Given the description of an element on the screen output the (x, y) to click on. 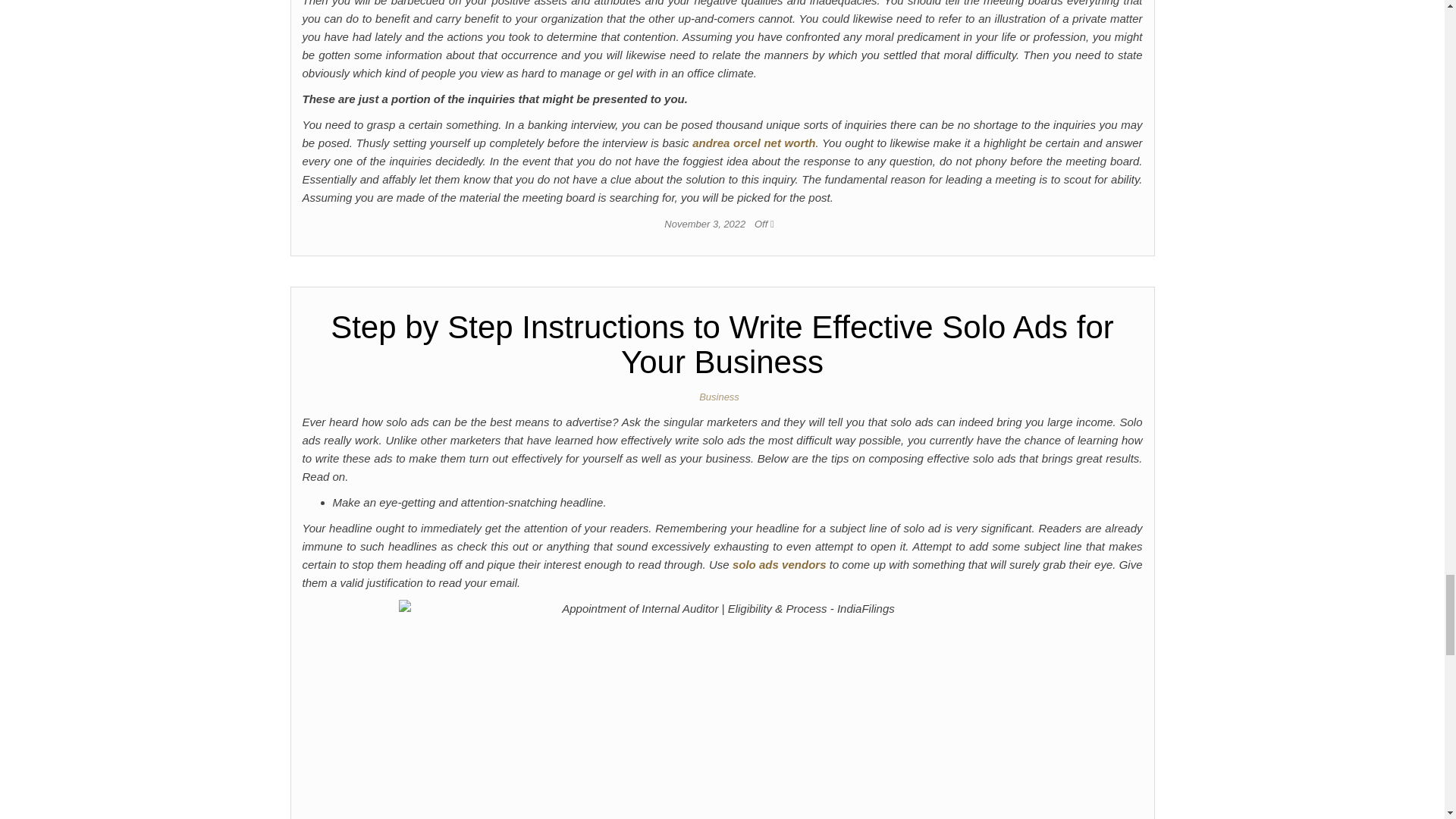
Business (721, 396)
solo ads vendors (779, 563)
andrea orcel net worth (754, 142)
